Given the description of an element on the screen output the (x, y) to click on. 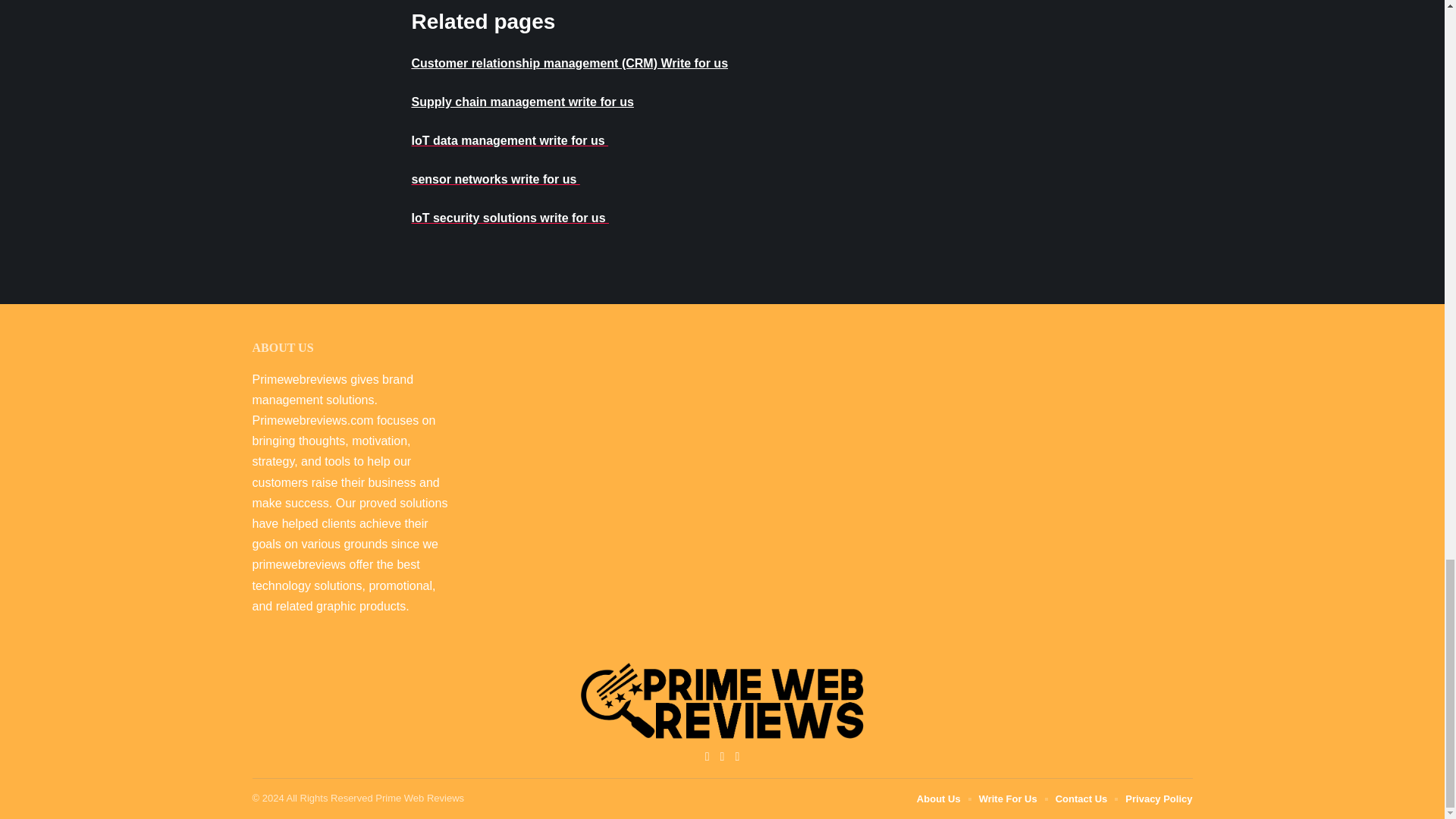
Prime Web Reviews (721, 700)
